Given the description of an element on the screen output the (x, y) to click on. 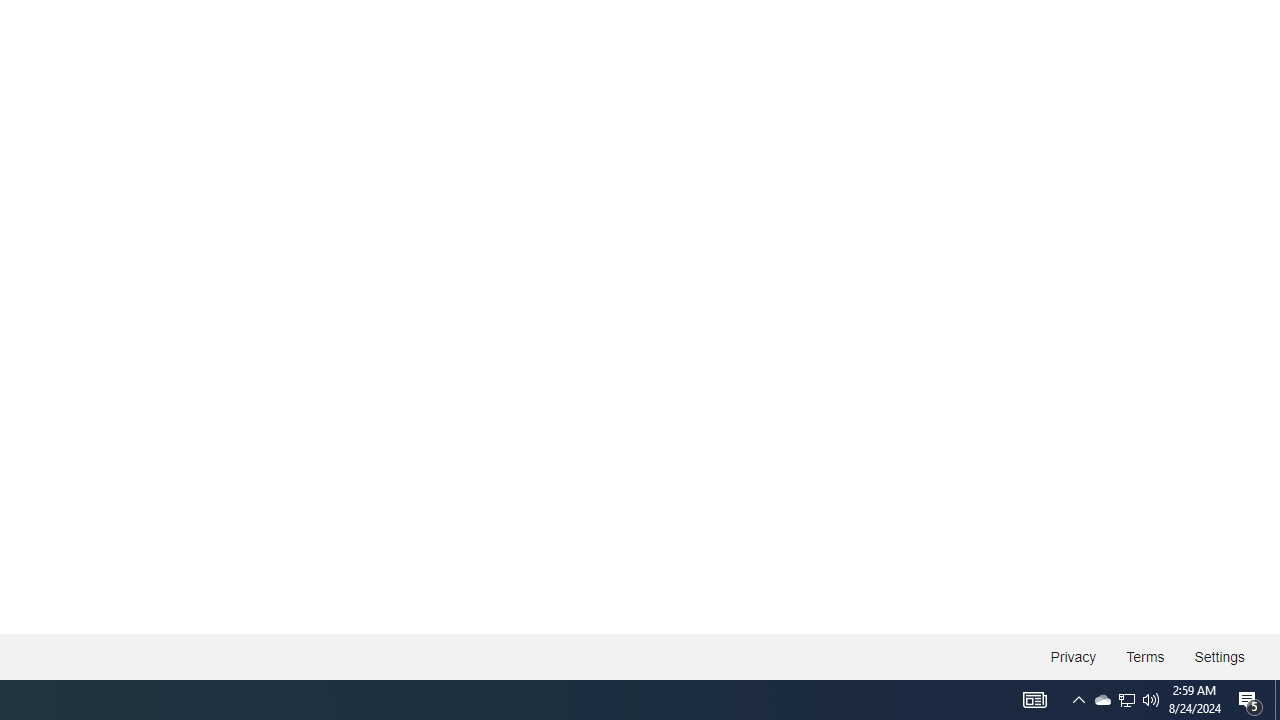
Terms (1145, 656)
Settings (1218, 656)
Privacy (1073, 656)
